Given the description of an element on the screen output the (x, y) to click on. 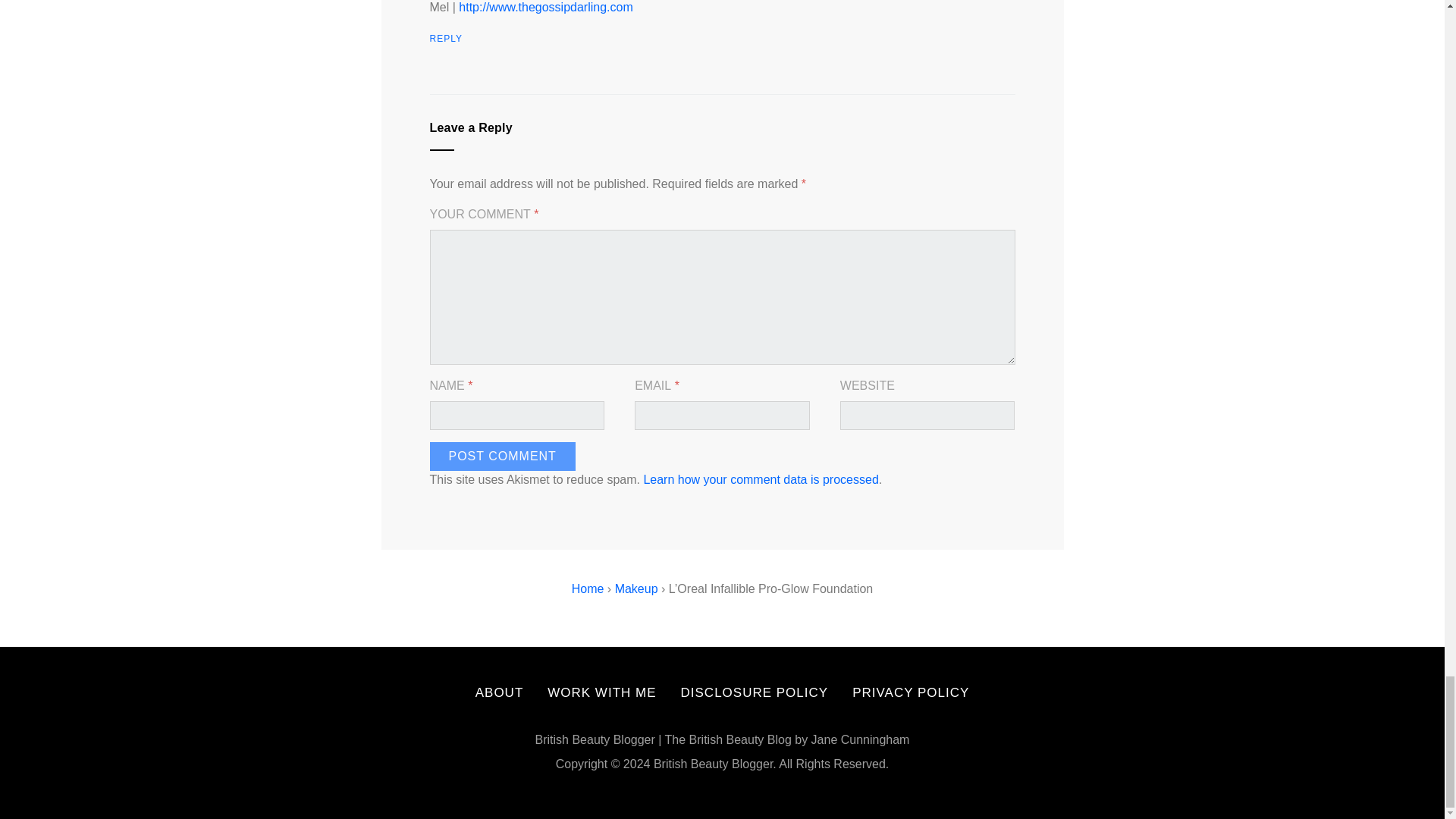
Post Comment (502, 456)
